Given the description of an element on the screen output the (x, y) to click on. 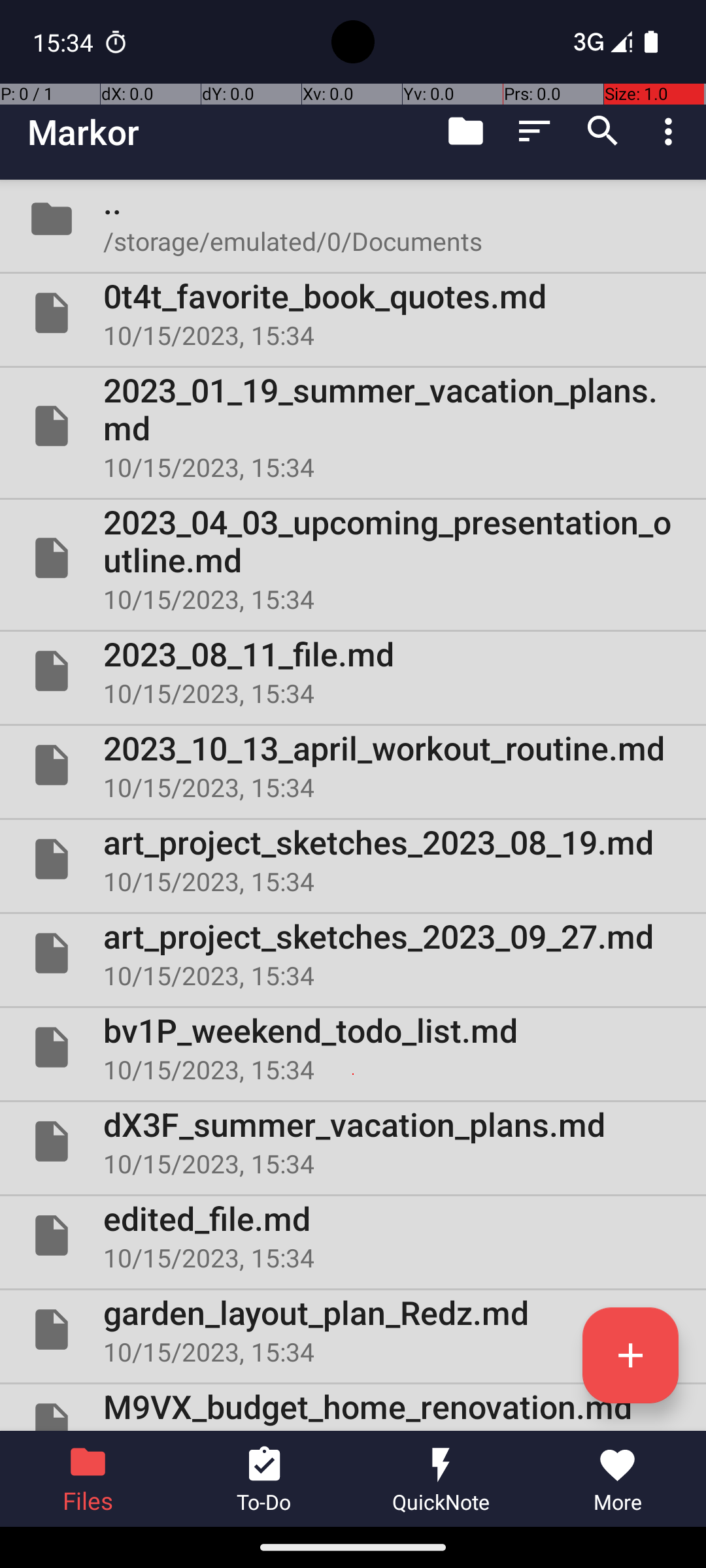
File 0t4t_favorite_book_quotes.md  Element type: android.widget.LinearLayout (353, 312)
File 2023_01_19_summer_vacation_plans.md  Element type: android.widget.LinearLayout (353, 425)
File 2023_04_03_upcoming_presentation_outline.md  Element type: android.widget.LinearLayout (353, 557)
File 2023_08_11_file.md  Element type: android.widget.LinearLayout (353, 670)
File 2023_10_13_april_workout_routine.md  Element type: android.widget.LinearLayout (353, 764)
File art_project_sketches_2023_08_19.md  Element type: android.widget.LinearLayout (353, 858)
File art_project_sketches_2023_09_27.md  Element type: android.widget.LinearLayout (353, 953)
File bv1P_weekend_todo_list.md  Element type: android.widget.LinearLayout (353, 1047)
File dX3F_summer_vacation_plans.md  Element type: android.widget.LinearLayout (353, 1141)
File edited_file.md  Element type: android.widget.LinearLayout (353, 1235)
File garden_layout_plan_Redz.md  Element type: android.widget.LinearLayout (353, 1329)
File M9VX_budget_home_renovation.md  Element type: android.widget.LinearLayout (353, 1407)
